Given the description of an element on the screen output the (x, y) to click on. 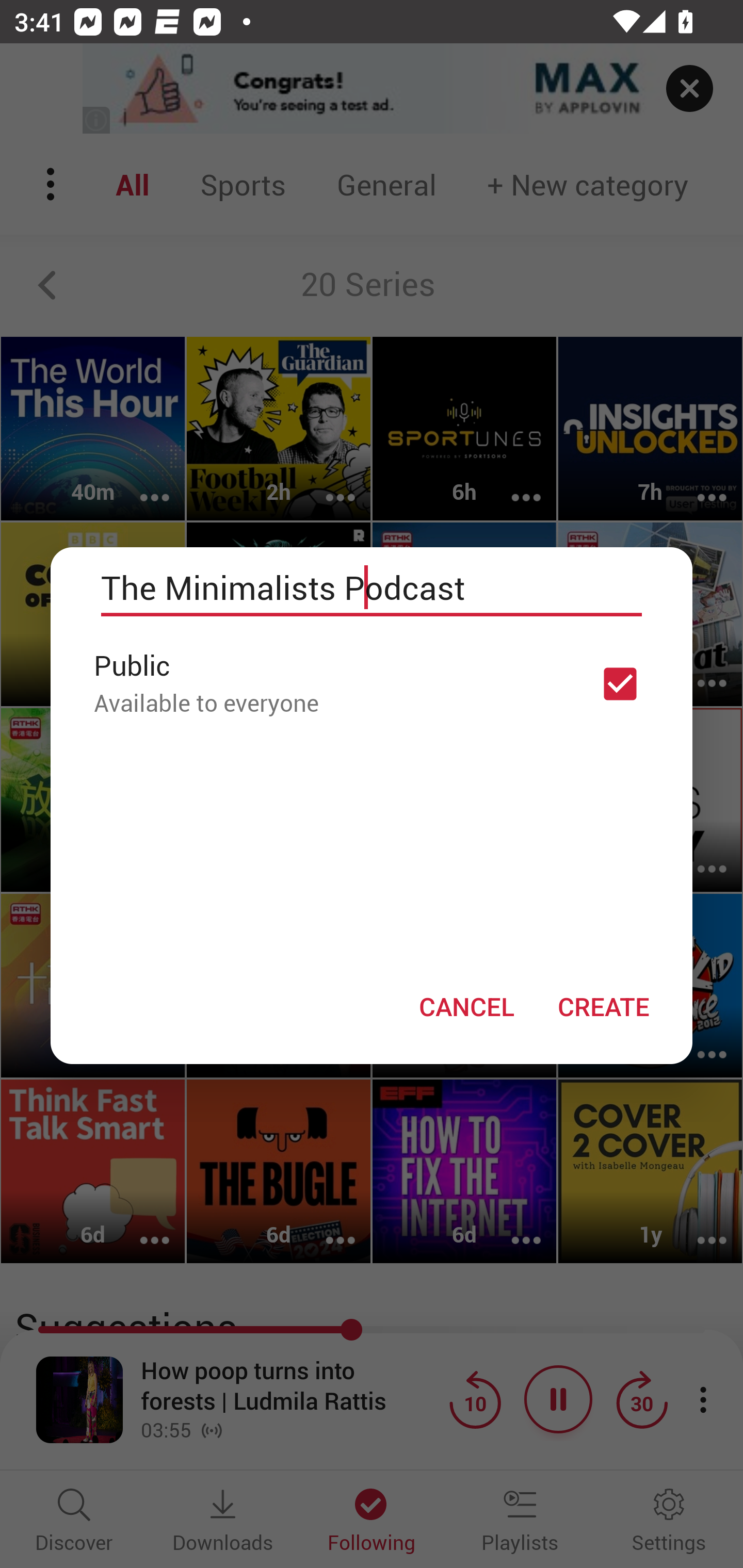
The Minimalists Podcast (371, 587)
Public Available to everyone (371, 683)
CANCEL (465, 1005)
CREATE (602, 1005)
